Given the description of an element on the screen output the (x, y) to click on. 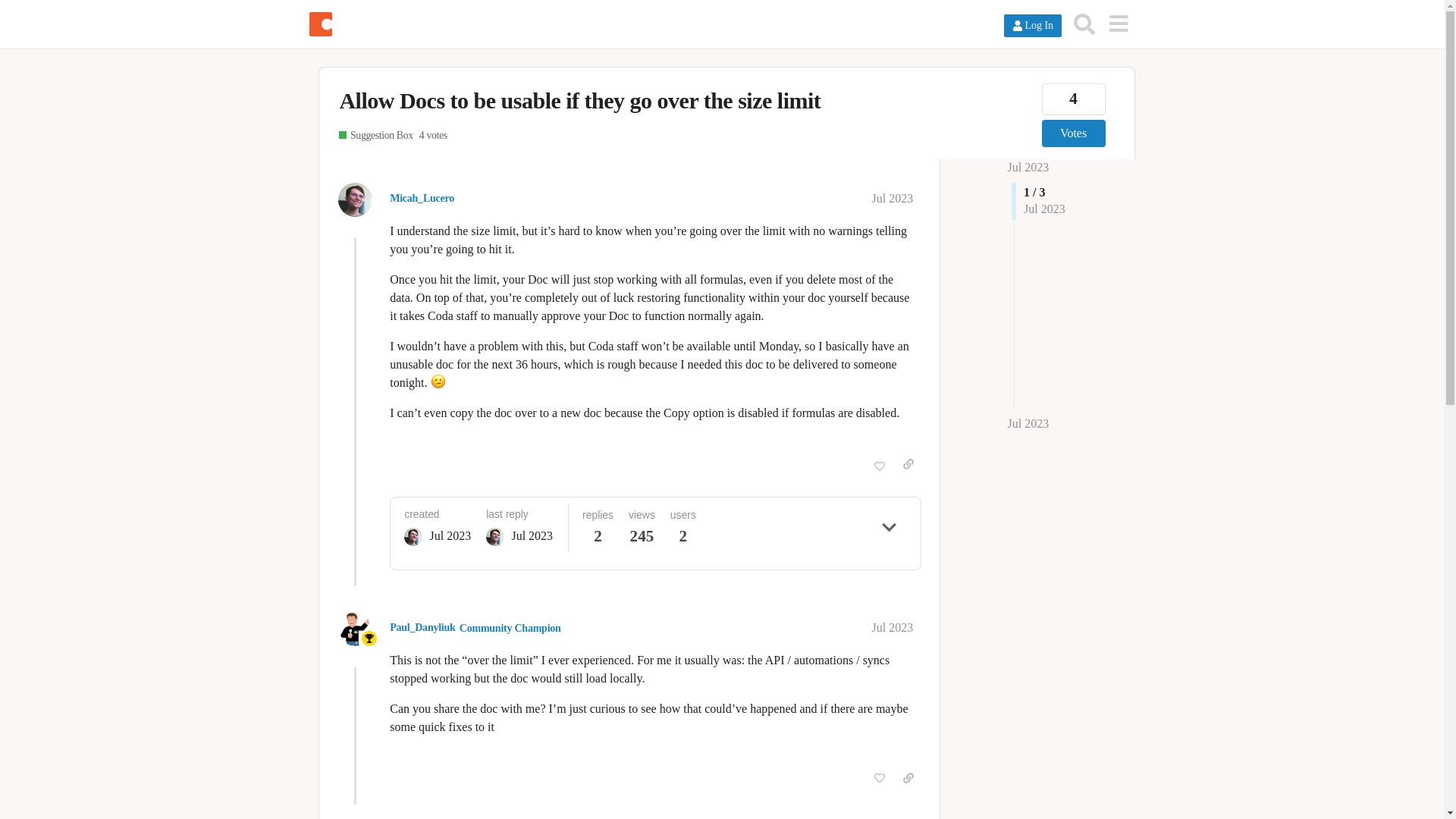
Suggest ideas and debate our roadmap with the Coda team. (375, 135)
Jump to the last post (1027, 422)
Suggestion Box (375, 135)
4 votes (432, 135)
Log In (1032, 25)
Post date (893, 197)
:confused: (437, 381)
Jul 23, 2023 10:13 am (449, 535)
menu (1118, 22)
Search (1084, 23)
Allow Docs to be usable if they go over the size limit (580, 100)
Micah Lucero (413, 536)
expand topic details (888, 527)
Jul 2023 (893, 197)
like this post (879, 466)
